Given the description of an element on the screen output the (x, y) to click on. 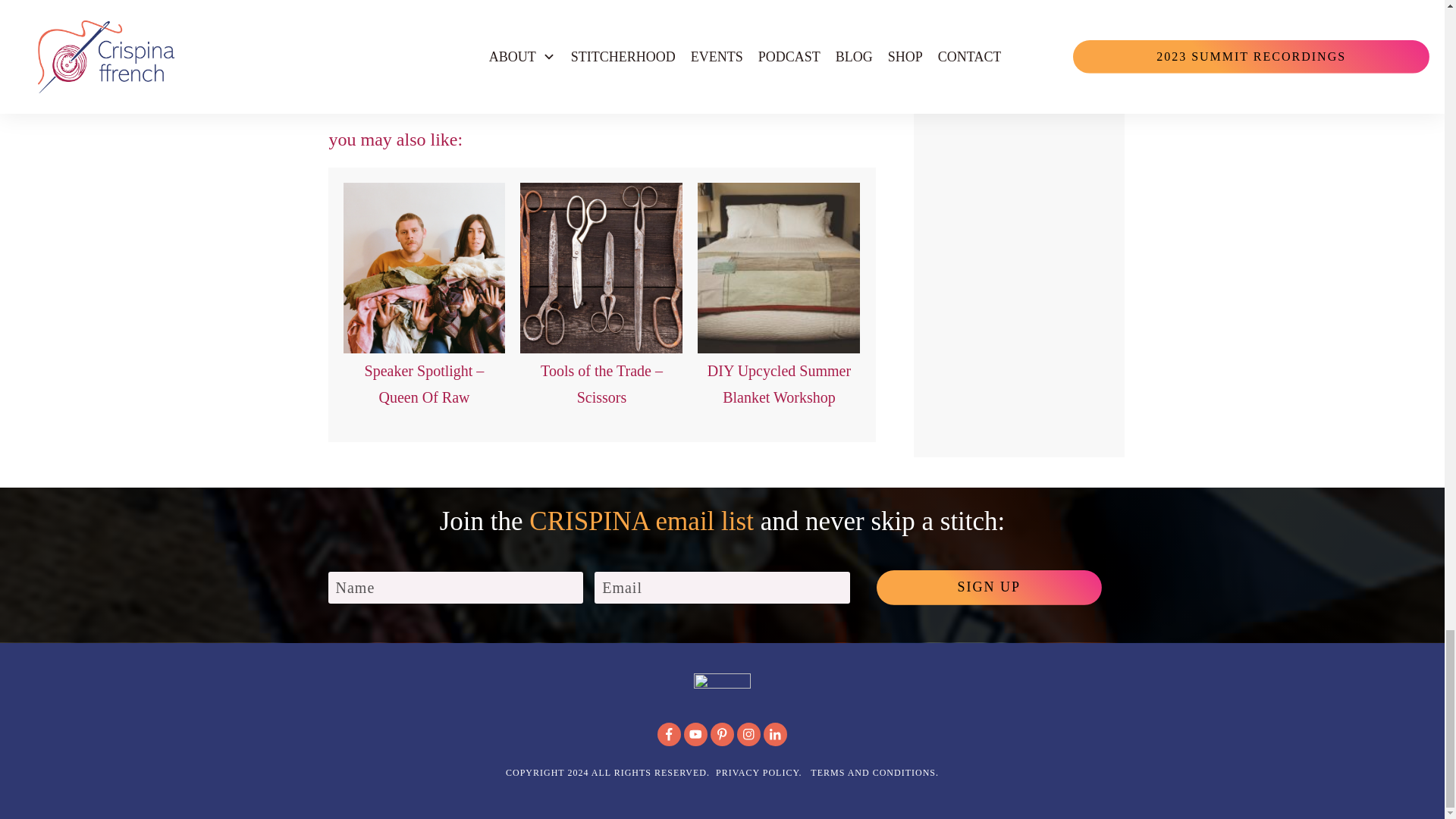
SIGN UP (989, 587)
TERMS AND CONDITIONS. (874, 772)
PRIVACY POLICY (756, 772)
